Given the description of an element on the screen output the (x, y) to click on. 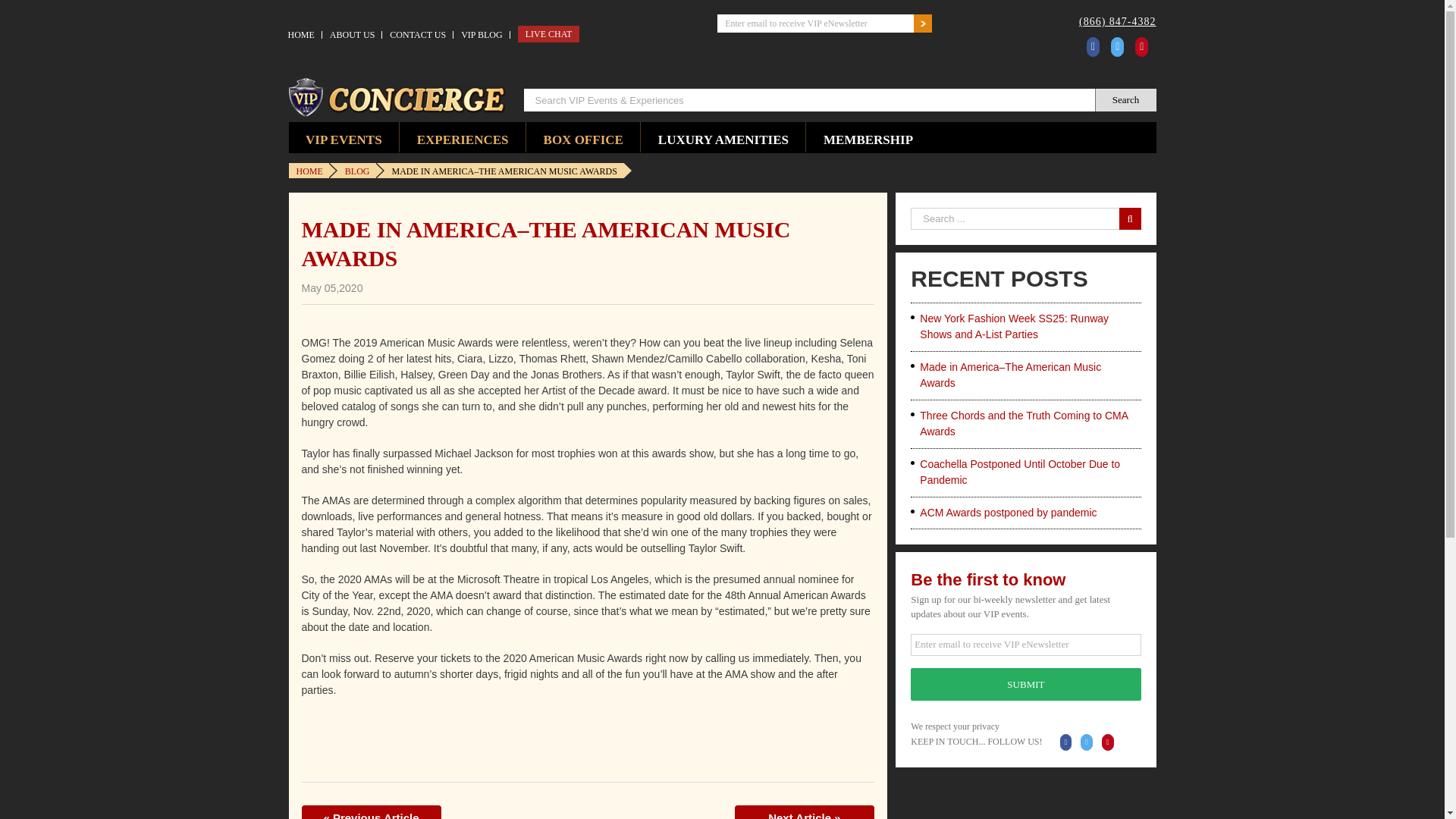
LIVE CHAT (548, 33)
ABOUT US (352, 34)
BOX OFFICE (582, 137)
MEMBERSHIP (868, 137)
VIP BLOG (481, 34)
LUXURY AMENITIES (722, 137)
Submit (1025, 683)
Search (1125, 99)
EXPERIENCES (461, 137)
Search (1125, 99)
